Given the description of an element on the screen output the (x, y) to click on. 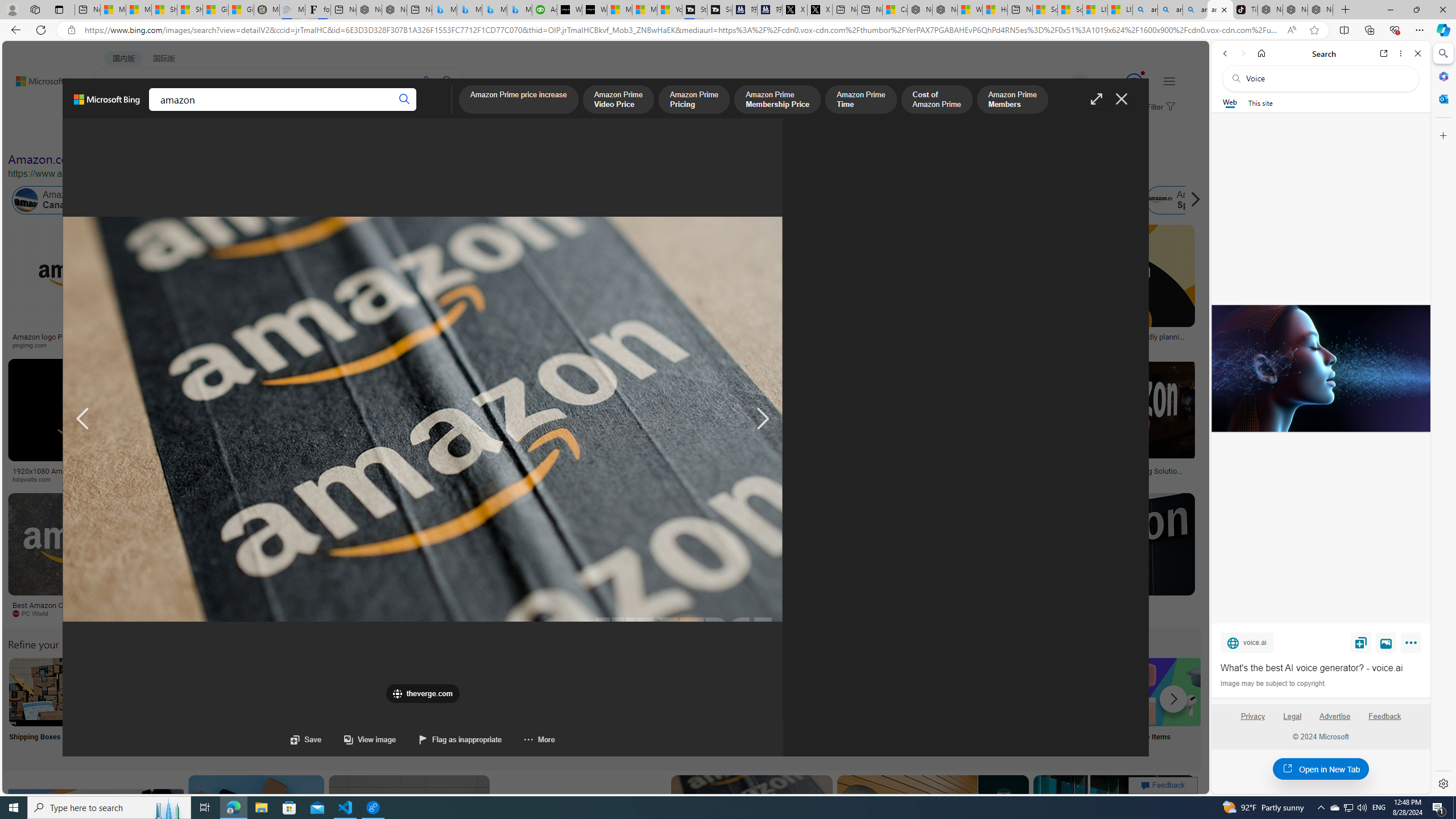
Feedback (1384, 720)
Forward (1242, 53)
Back to Bing search (41, 78)
Class: b_pri_nav_svg (191, 112)
cordcuttersnews.com (916, 613)
Outlook (1442, 98)
Color (173, 135)
Nordace Siena Pro 15 Backpack (1295, 9)
What's the best AI voice generator? - voice.ai (1320, 368)
WEB (114, 111)
Microsoft Start Sports (619, 9)
View image (358, 739)
Amazon Logo Png Hd Wallpaper | Images and Photos finder (559, 340)
